Given the description of an element on the screen output the (x, y) to click on. 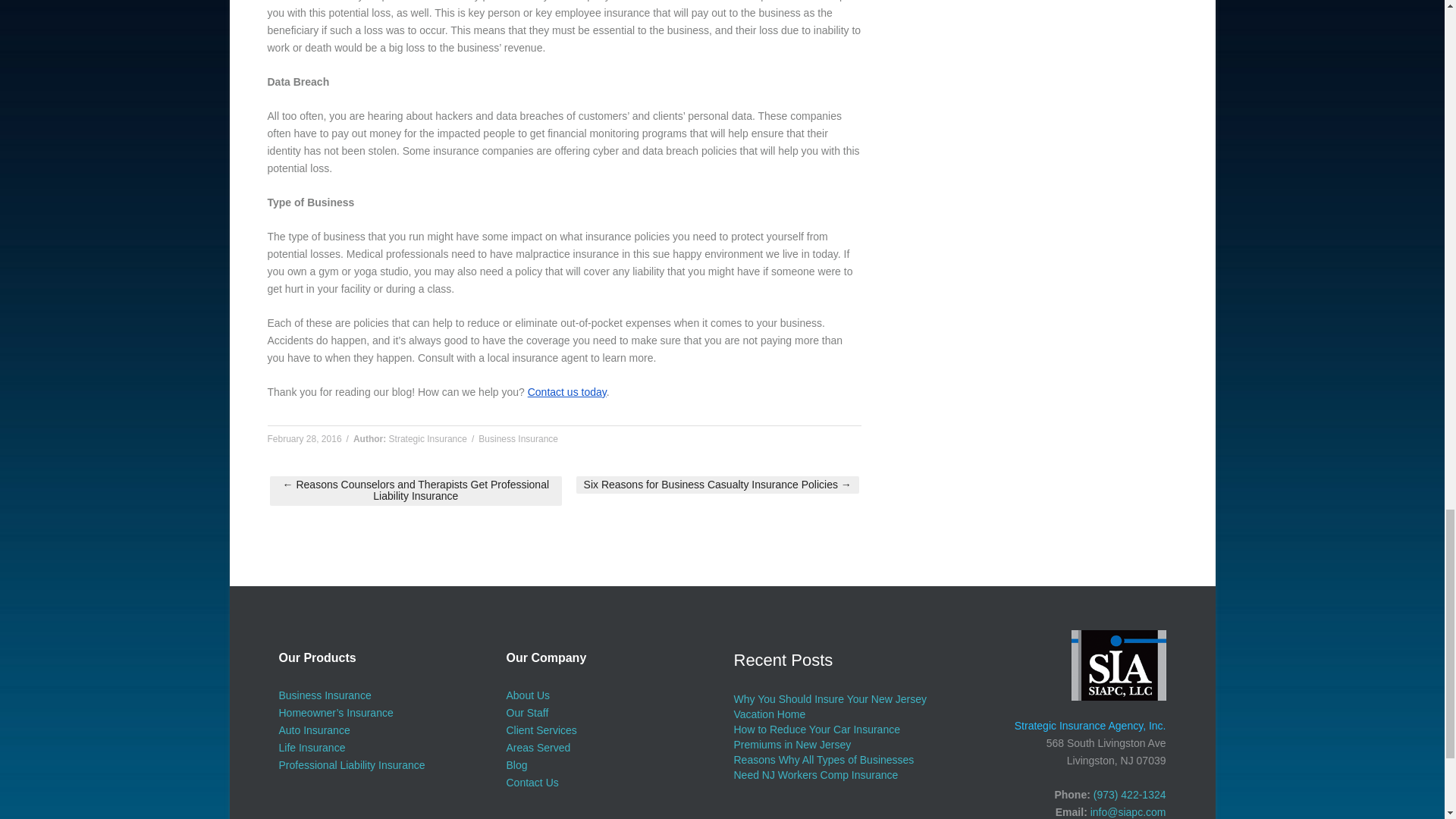
View all posts by Strategic Insurance (427, 439)
Business Insurance (518, 439)
Contact us today (567, 391)
Business Insurance (325, 695)
Strategic Insurance (427, 439)
